Given the description of an element on the screen output the (x, y) to click on. 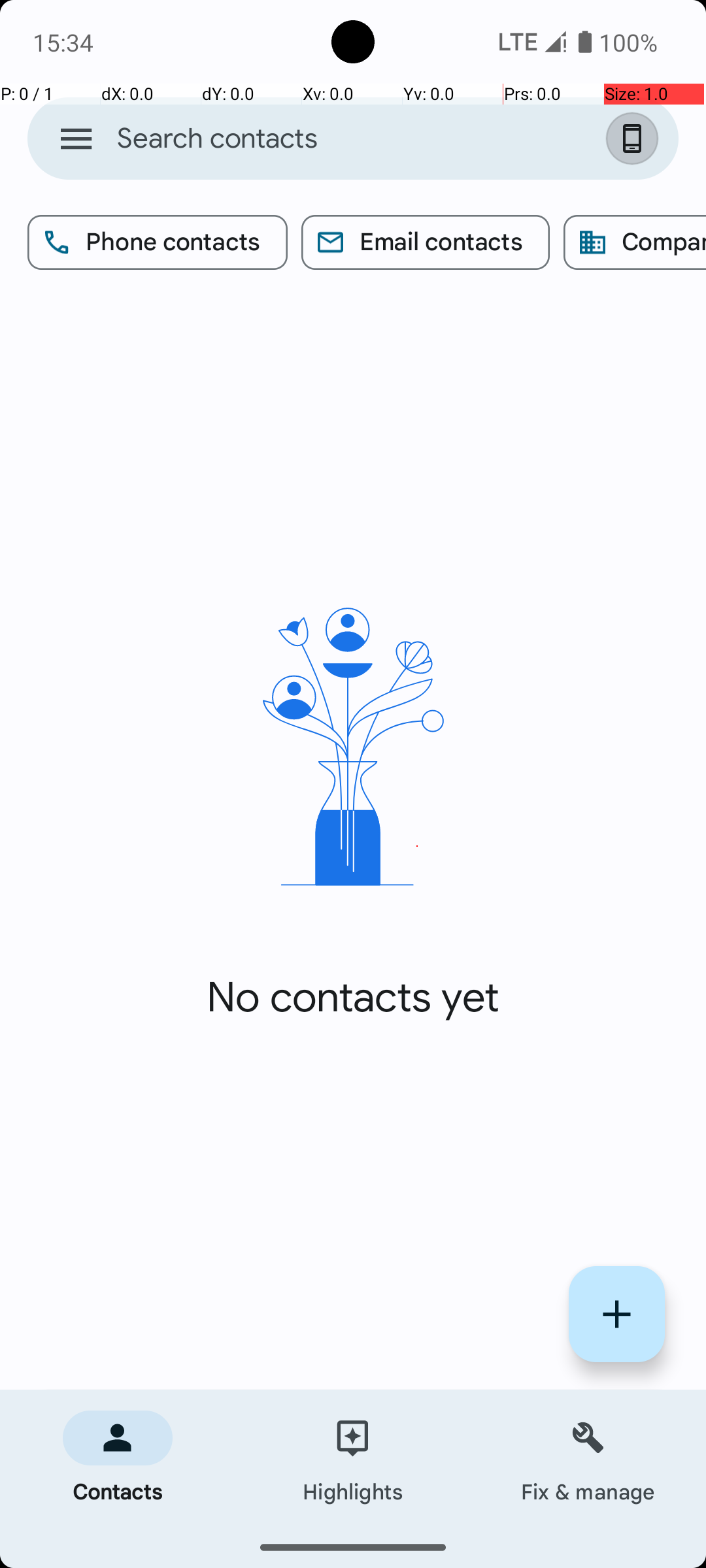
No contacts yet Element type: android.widget.TextView (353, 997)
